Given the description of an element on the screen output the (x, y) to click on. 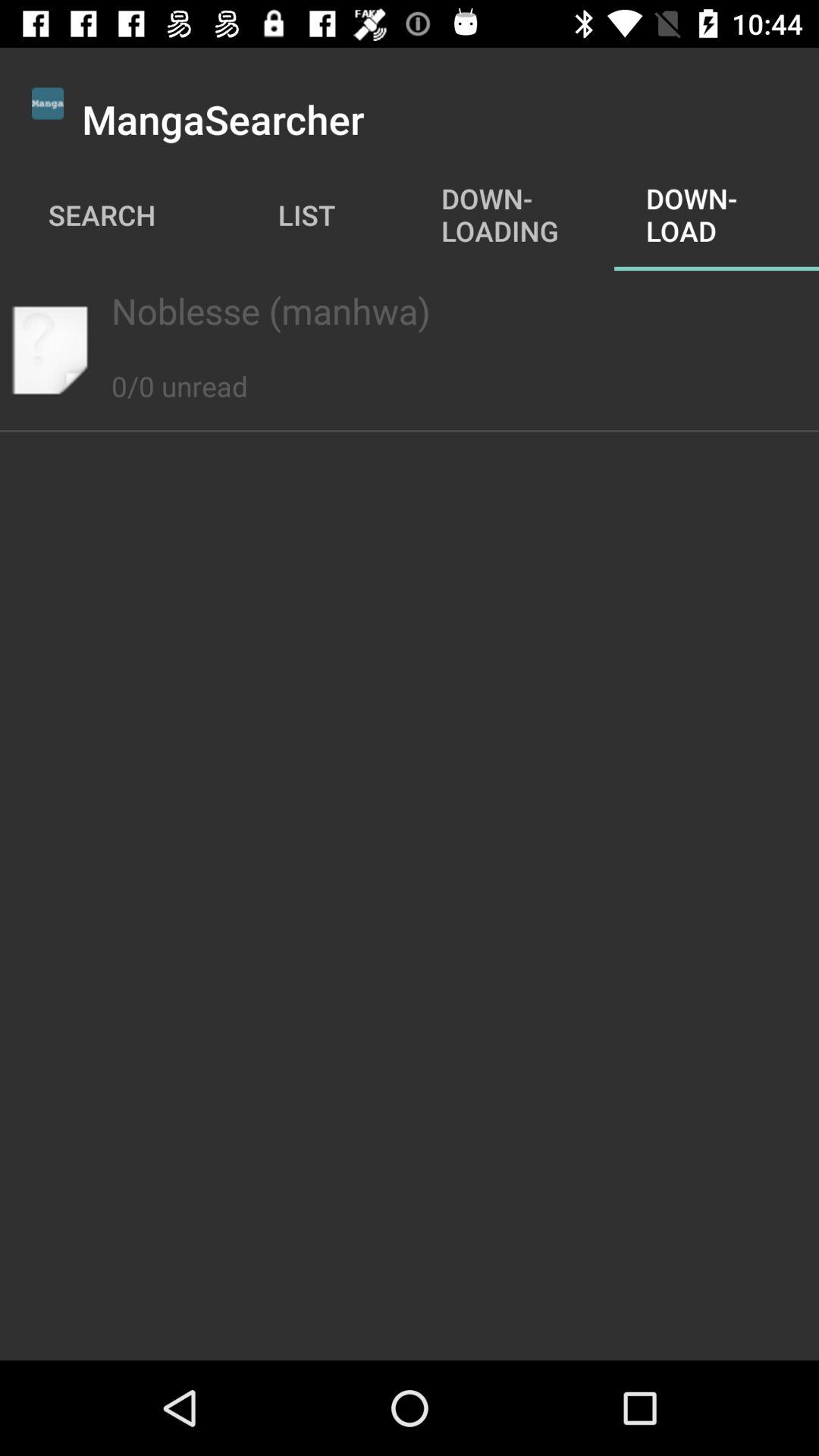
turn off item below the noblesse (manhwa) icon (179, 369)
